Given the description of an element on the screen output the (x, y) to click on. 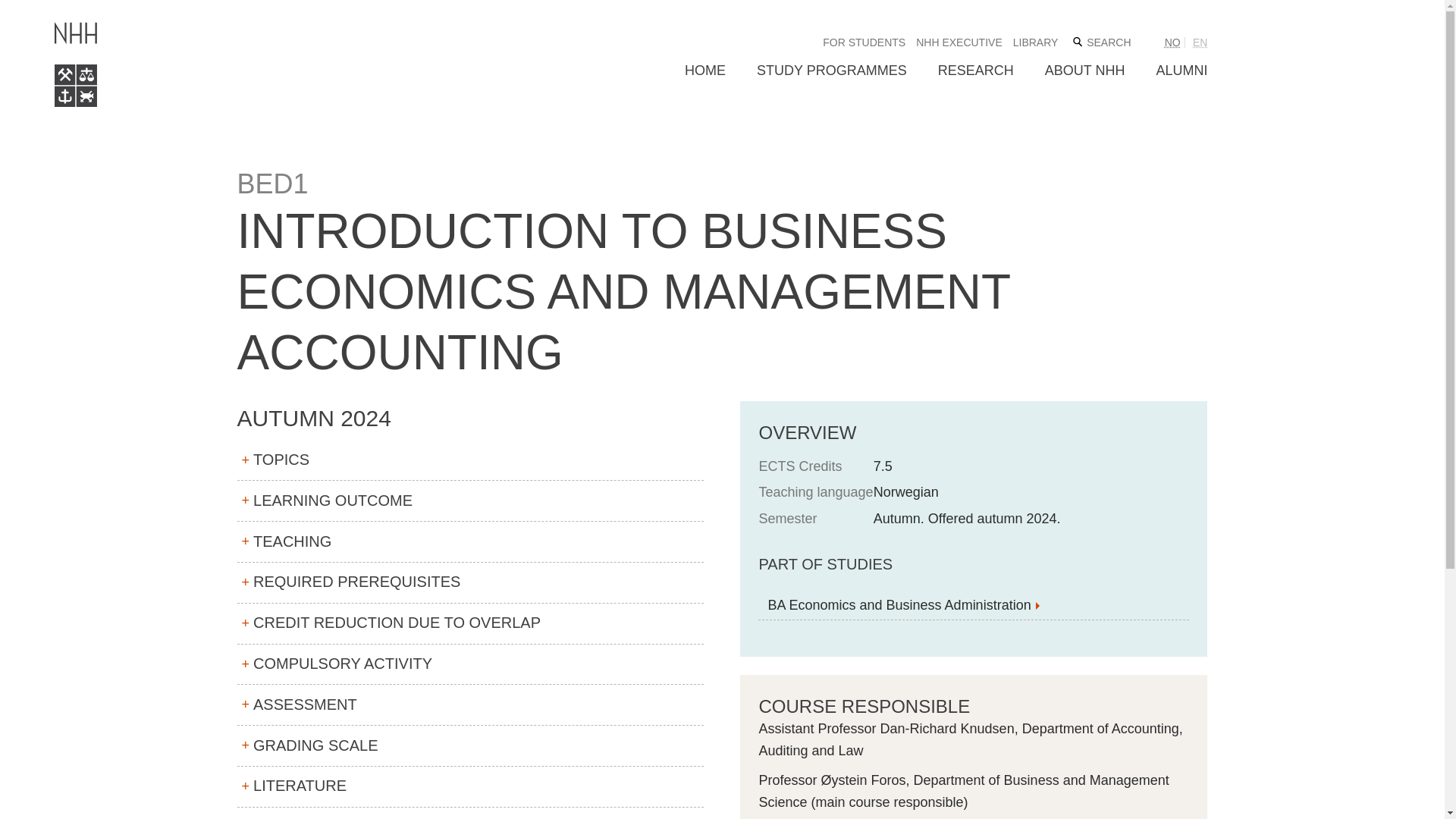
FOR STUDENTS (863, 41)
BA Economics and Business Administration (973, 603)
ABOUT NHH (1085, 71)
LEARNING OUTCOME (469, 500)
RESEARCH (975, 71)
EN (1195, 41)
CREDIT REDUCTION DUE TO OVERLAP (469, 623)
NHH EXECUTIVE (959, 41)
GRADING SCALE (469, 745)
TOPICS (469, 460)
COMPULSORY ACTIVITY (469, 664)
norsk (1172, 42)
TEACHING (469, 541)
NO (1172, 41)
LIBRARY (1035, 41)
